Given the description of an element on the screen output the (x, y) to click on. 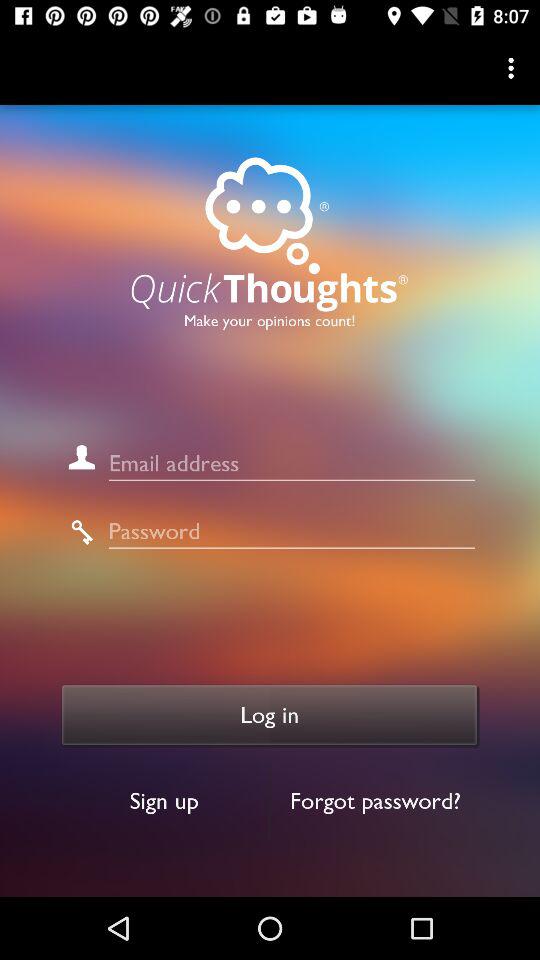
choose item above sign up item (270, 715)
